Given the description of an element on the screen output the (x, y) to click on. 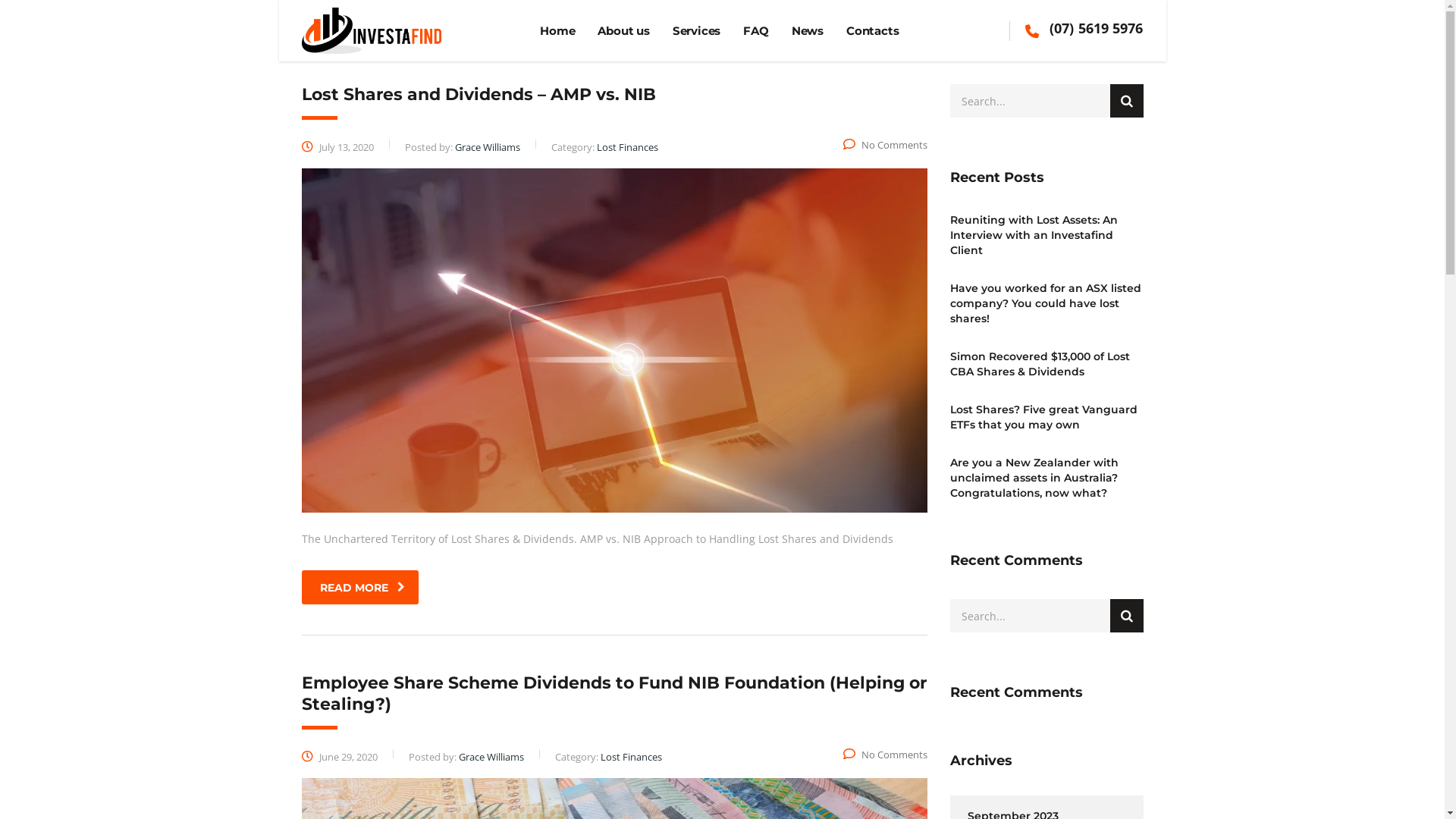
Investafind Element type: hover (371, 28)
News Element type: text (807, 30)
FAQ Element type: text (755, 30)
No Comments Element type: text (885, 144)
About us Element type: text (623, 30)
Contacts Element type: text (872, 30)
READ MORE Element type: text (359, 587)
No Comments Element type: text (885, 754)
Lost Shares? Five great Vanguard ETFs that you may own Element type: text (1045, 416)
Services Element type: text (696, 30)
Simon Recovered $13,000 of Lost CBA Shares & Dividends Element type: text (1045, 363)
Home Element type: text (557, 30)
